Given the description of an element on the screen output the (x, y) to click on. 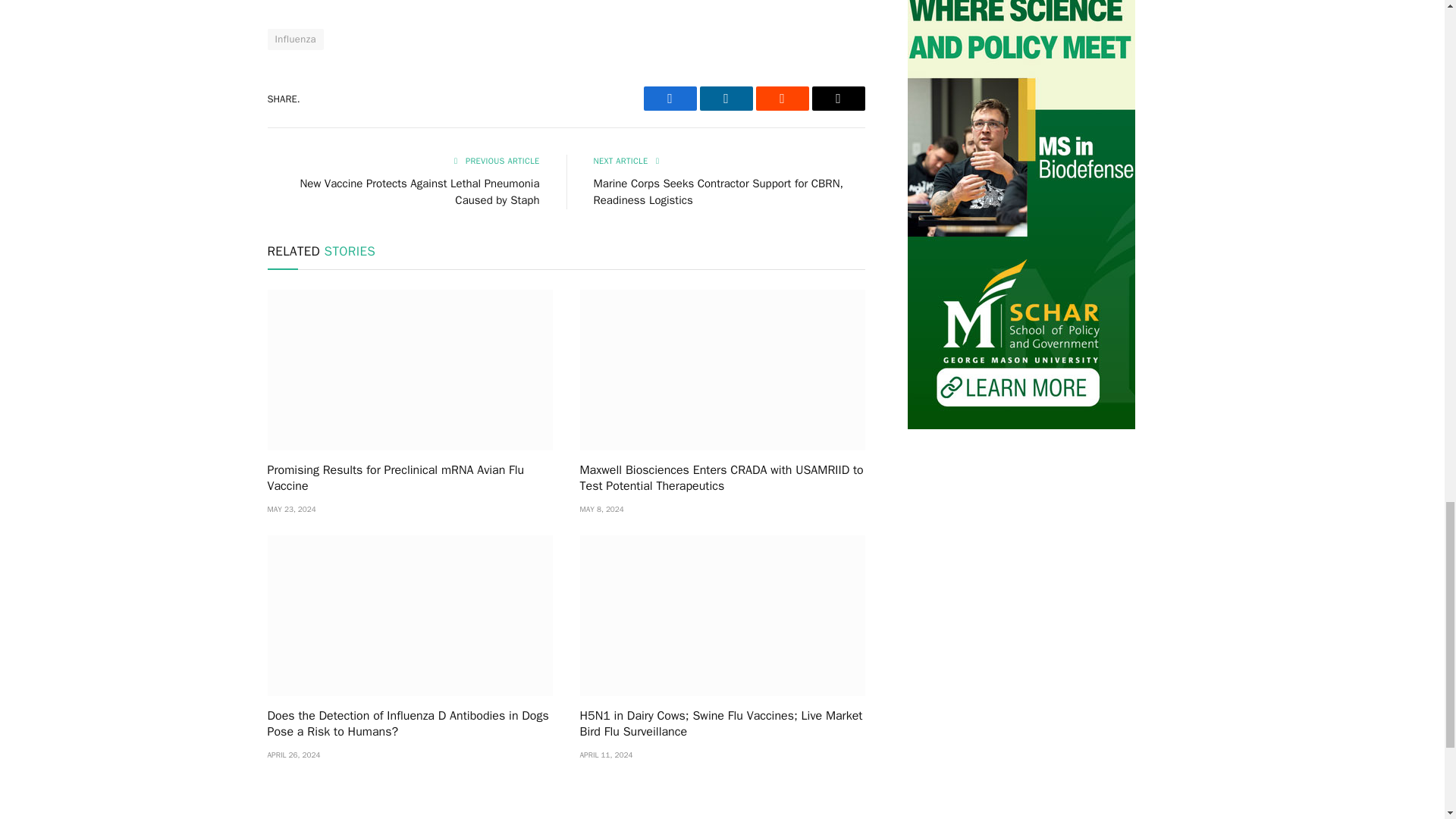
Promising Results for Preclinical mRNA Avian Flu Vaccine (408, 479)
Reddit (781, 98)
LinkedIn (725, 98)
Influenza (294, 38)
Facebook (669, 98)
Share on Facebook (669, 98)
Email (837, 98)
